Given the description of an element on the screen output the (x, y) to click on. 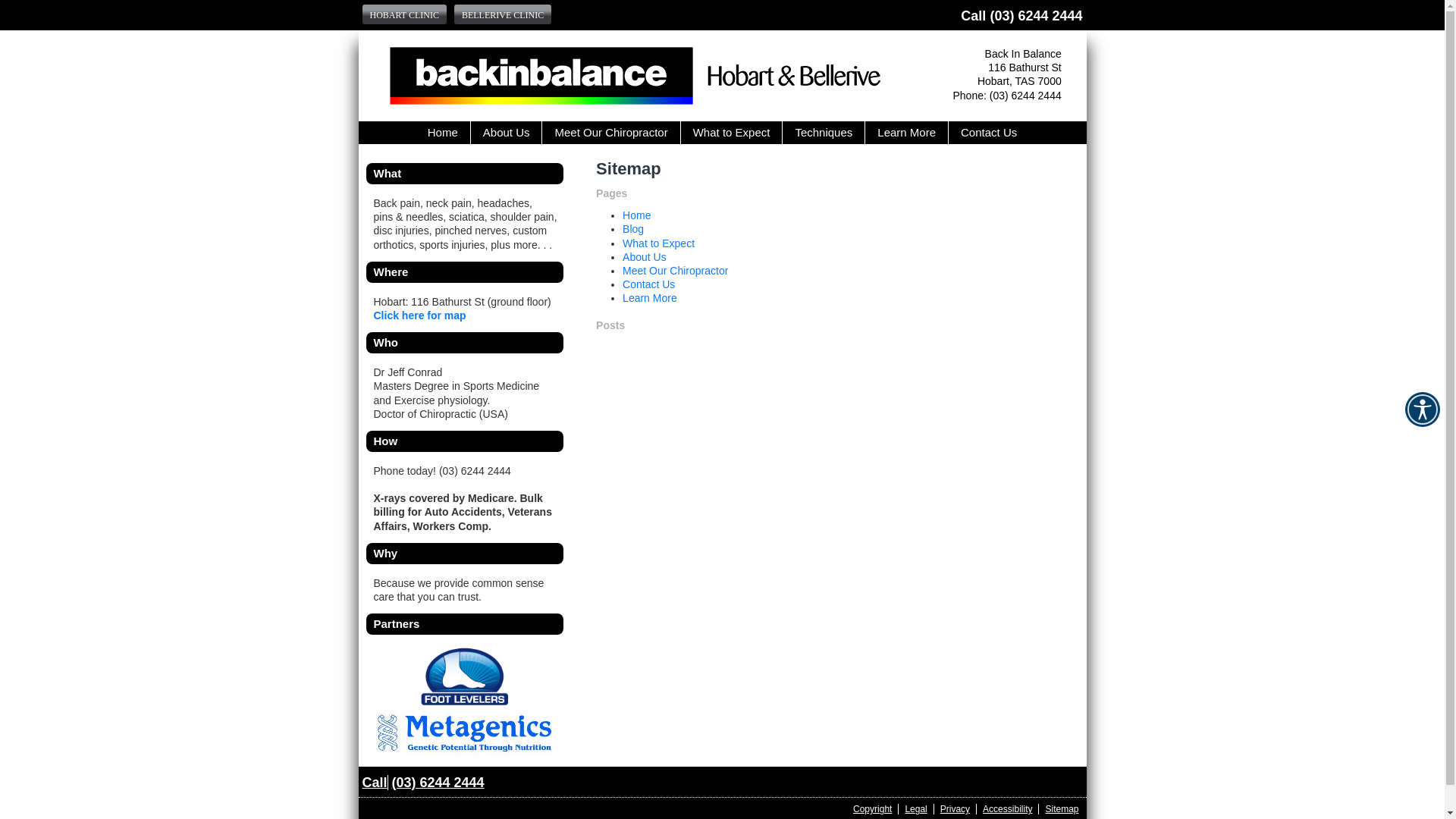
Contact Us Element type: text (648, 284)
About Us Element type: text (506, 132)
About Us Element type: text (644, 257)
Home Element type: text (636, 215)
Foot Levelers Element type: hover (463, 676)
Privacy Element type: text (955, 808)
Techniques Element type: text (823, 132)
Accessibility Element type: text (1007, 808)
Back In Balance Element type: text (633, 100)
Copyright Element type: text (872, 808)
BELLERIVE CLINIC Element type: text (502, 14)
Legal Element type: text (915, 808)
Sitemap Element type: text (1058, 808)
Metagenics Element type: hover (463, 732)
What to Expect Element type: text (658, 243)
(03) 6244 2444 Element type: text (1025, 95)
Click here for map Element type: text (419, 315)
Meet Our Chiropractor Element type: text (675, 270)
(03) 6244 2444 Element type: text (1035, 15)
Learn More Element type: text (906, 132)
(03) 6244 2444 Element type: text (438, 782)
Contact Us Element type: text (988, 132)
Blog Element type: text (632, 228)
What to Expect Element type: text (731, 132)
HOBART CLINIC Element type: text (404, 14)
Learn More Element type: text (649, 297)
Home Element type: text (442, 132)
Meet Our Chiropractor Element type: text (611, 132)
